Given the description of an element on the screen output the (x, y) to click on. 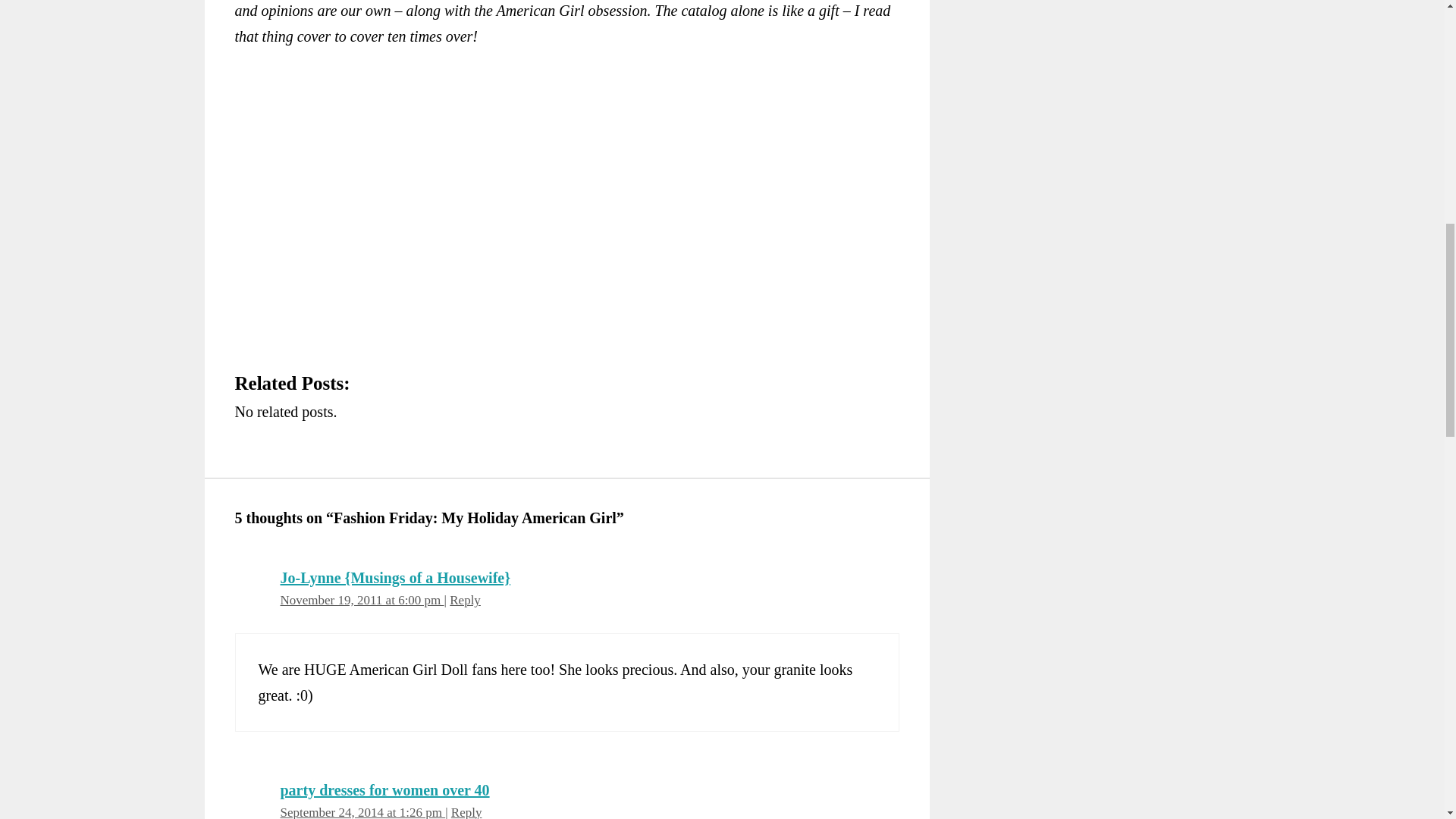
September 24, 2014 at 1:26 pm (363, 812)
November 19, 2011 at 6:00 pm (362, 599)
party dresses for women over 40 (385, 789)
Reply (466, 812)
Reply (464, 599)
